Given the description of an element on the screen output the (x, y) to click on. 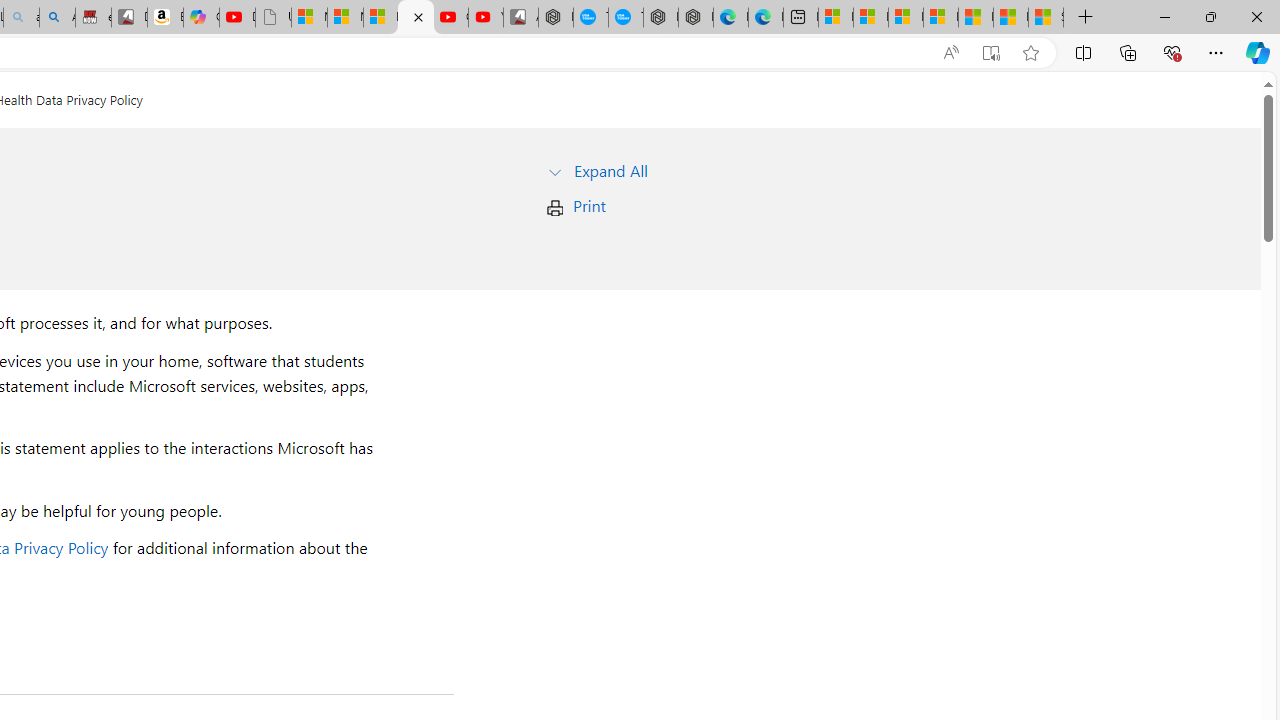
Enter Immersive Reader (F9) (991, 53)
Expand All (610, 170)
I Gained 20 Pounds of Muscle in 30 Days! | Watch (1010, 17)
